Given the description of an element on the screen output the (x, y) to click on. 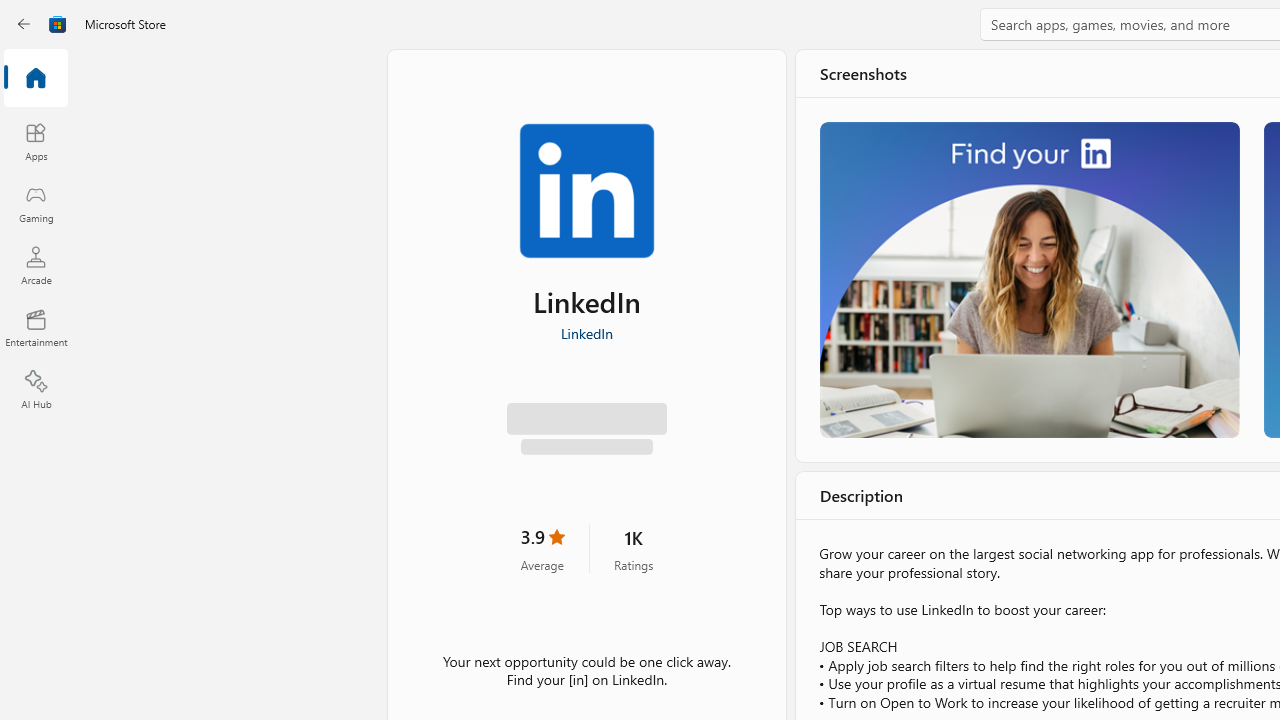
LinkedIn (585, 333)
Get (586, 424)
Back (24, 24)
Apps (35, 141)
AI Hub (35, 390)
Home (35, 79)
Class: Image (58, 24)
Gaming (35, 203)
Arcade (35, 265)
Screenshot 1 (1029, 279)
Entertainment (35, 327)
3.9 stars. Click to skip to ratings and reviews (542, 554)
